Given the description of an element on the screen output the (x, y) to click on. 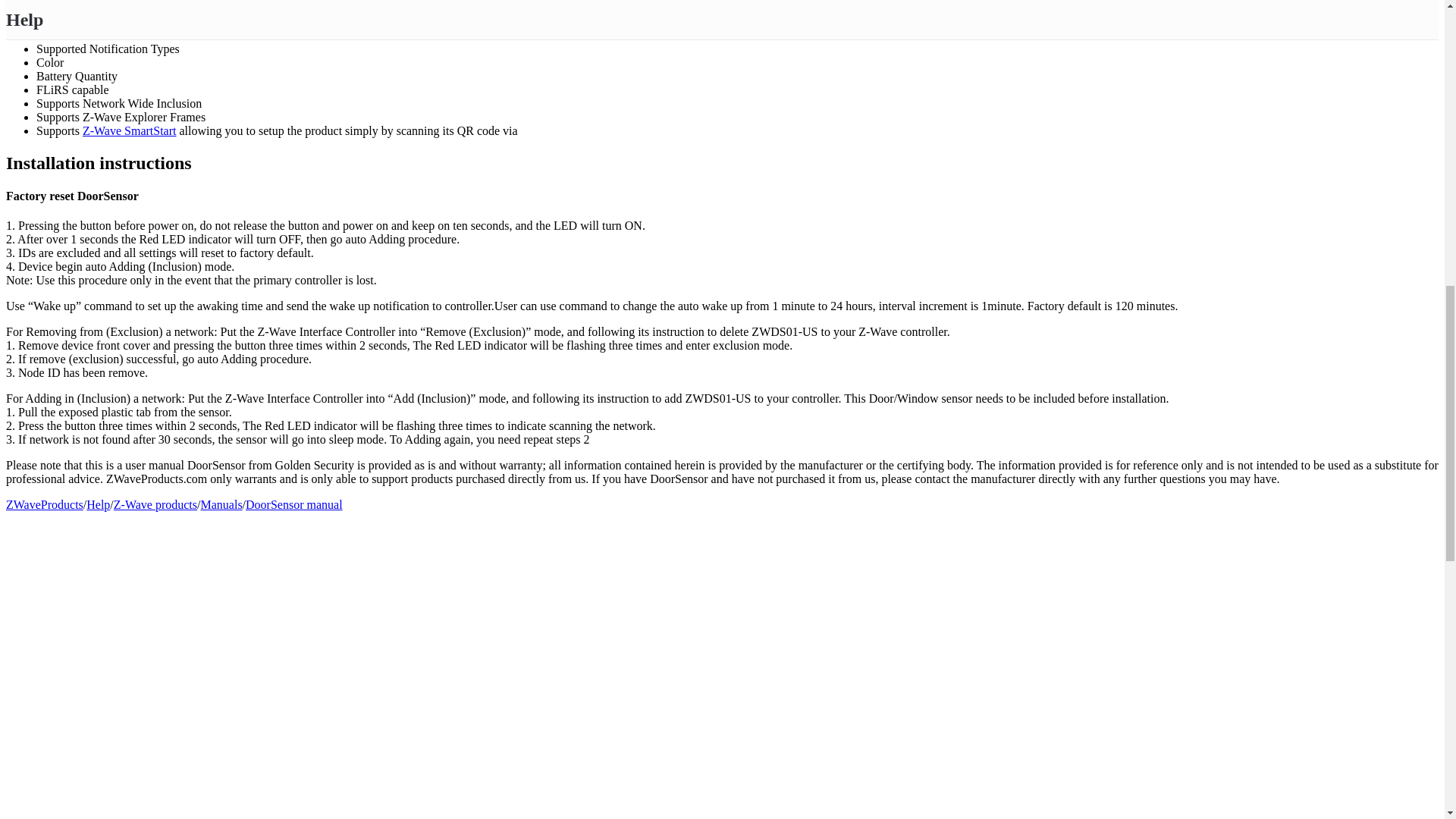
ZWaveProducts (43, 504)
Help (97, 504)
DoorSensor manual (294, 504)
Manuals (220, 504)
Z-Wave SmartStart (129, 130)
Z-Wave products (154, 504)
